Given the description of an element on the screen output the (x, y) to click on. 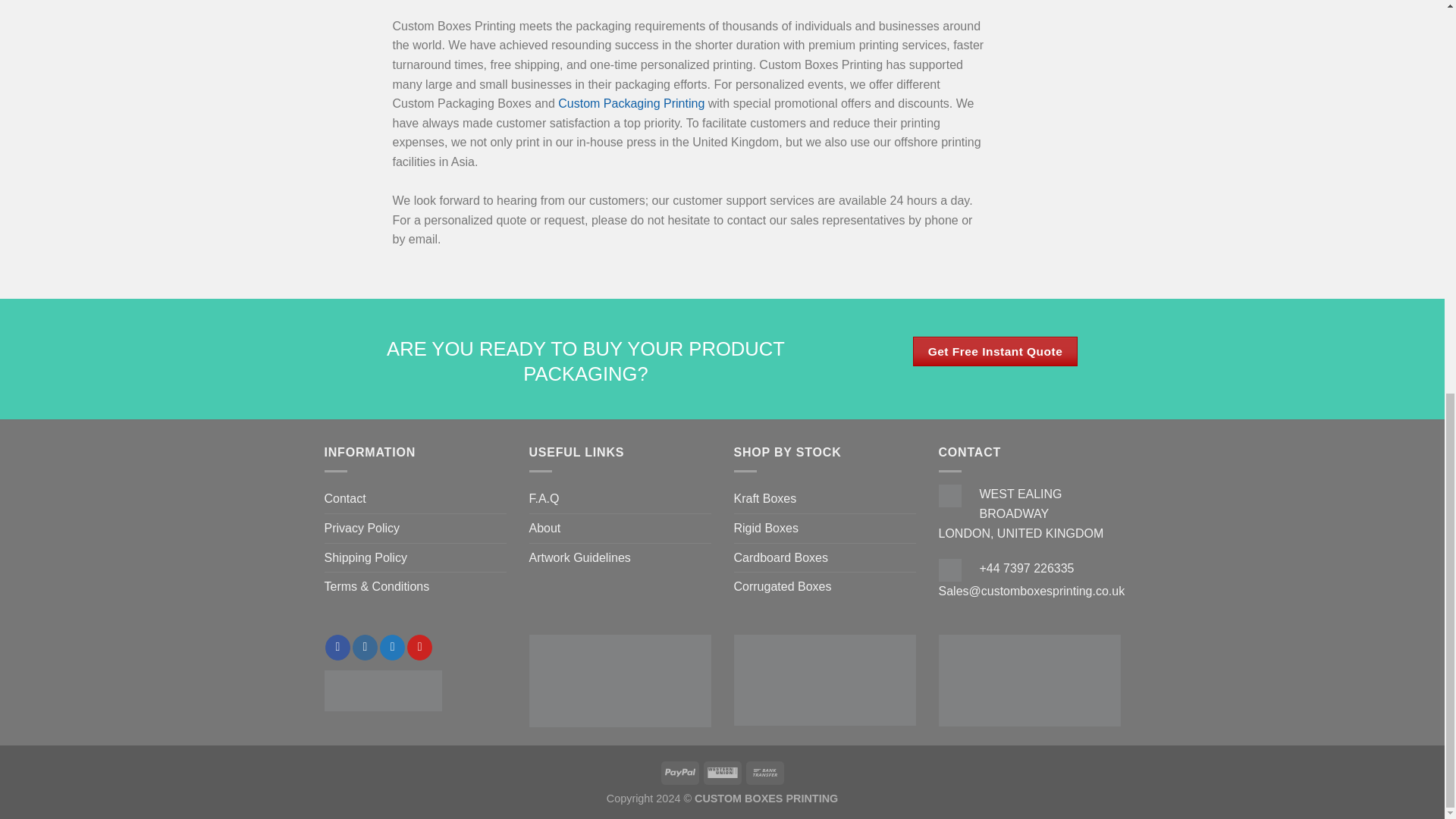
Follow on Pinterest (419, 647)
Follow on Twitter (392, 647)
Follow on Facebook (337, 647)
Follow on Instagram (364, 647)
